Given the description of an element on the screen output the (x, y) to click on. 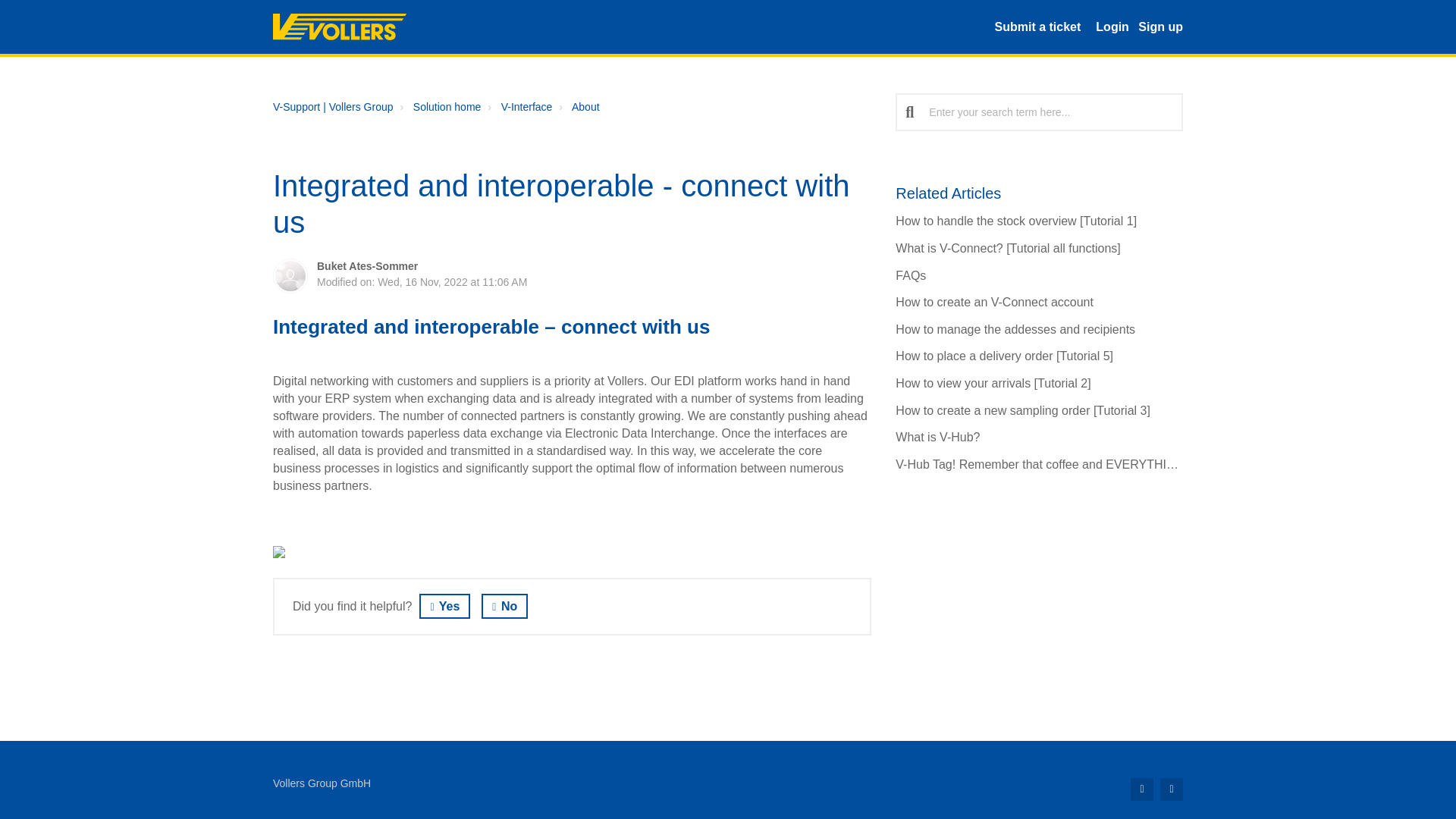
What is V-Hub? (937, 436)
Sign up (1160, 25)
Submit a ticket (1037, 26)
V-Interface (517, 107)
About (585, 106)
Login (1112, 25)
V-Hub Tag! Remember that coffee and EVERYTHING about it! (1062, 463)
V-Interface (526, 106)
How to manage the addesses and recipients (1015, 328)
Solution home (447, 106)
FAQs (910, 275)
How to create an V-Connect account (994, 301)
Vollers Group GmbH (322, 783)
Solution home (438, 107)
About (576, 107)
